Given the description of an element on the screen output the (x, y) to click on. 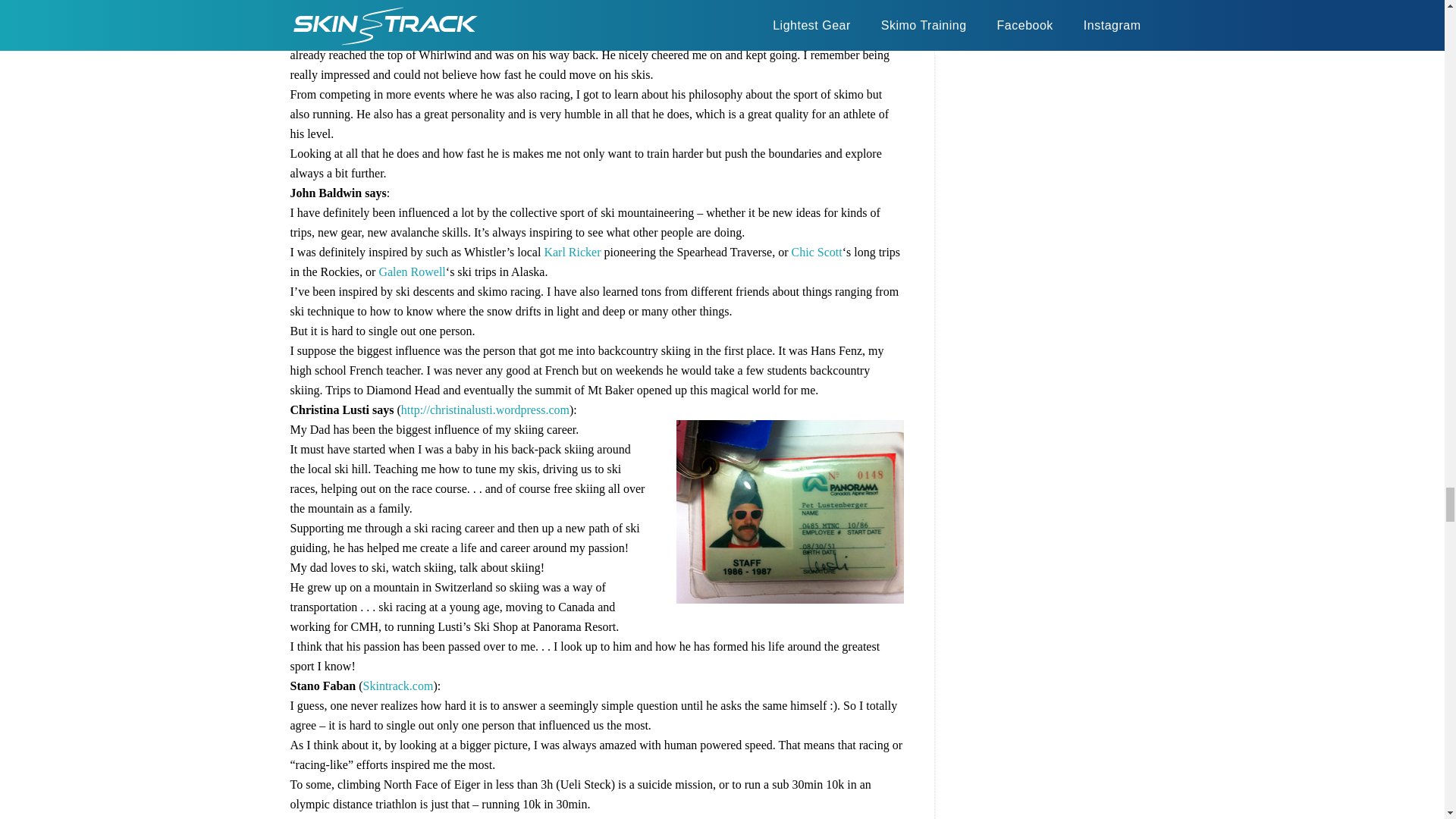
pet-lustenberger (790, 511)
